Given the description of an element on the screen output the (x, y) to click on. 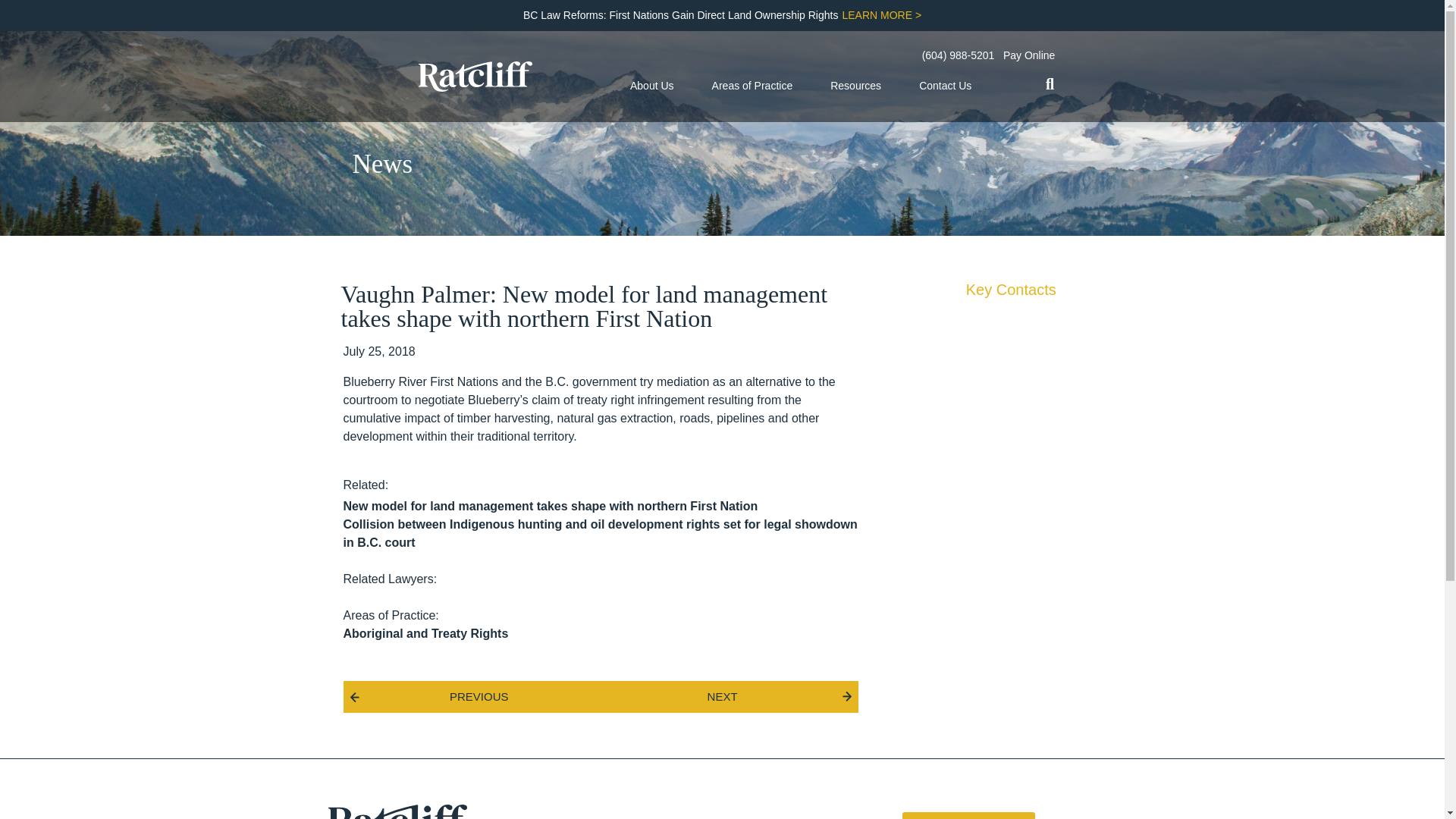
About Us (652, 86)
Resources (856, 86)
Contact Us (945, 86)
Pay Online (1028, 55)
Areas of Practice (751, 86)
